Given the description of an element on the screen output the (x, y) to click on. 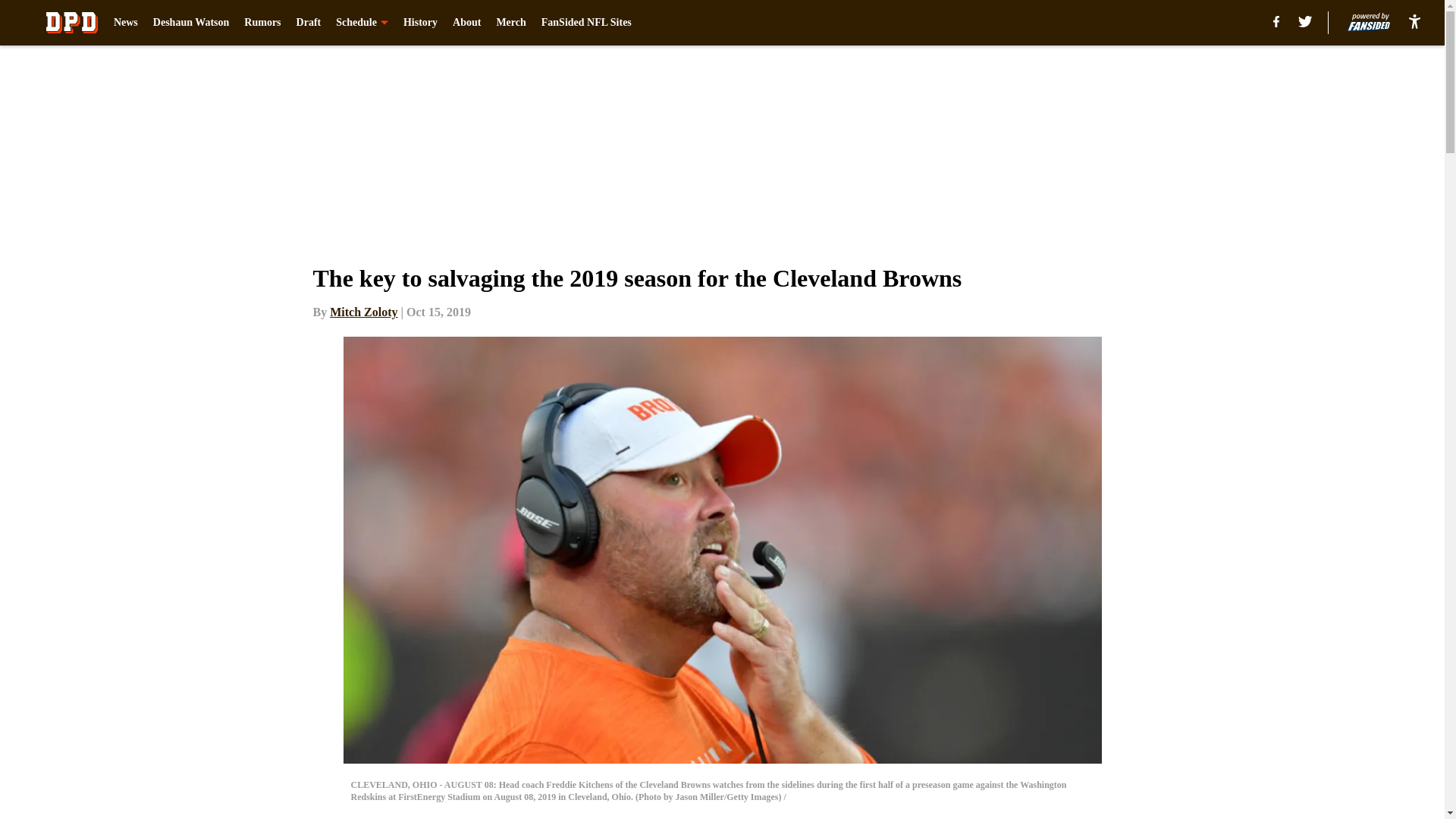
About (466, 22)
History (420, 22)
Merch (510, 22)
News (125, 22)
Rumors (262, 22)
Draft (309, 22)
Deshaun Watson (191, 22)
Mitch Zoloty (363, 311)
FanSided NFL Sites (586, 22)
